Given the description of an element on the screen output the (x, y) to click on. 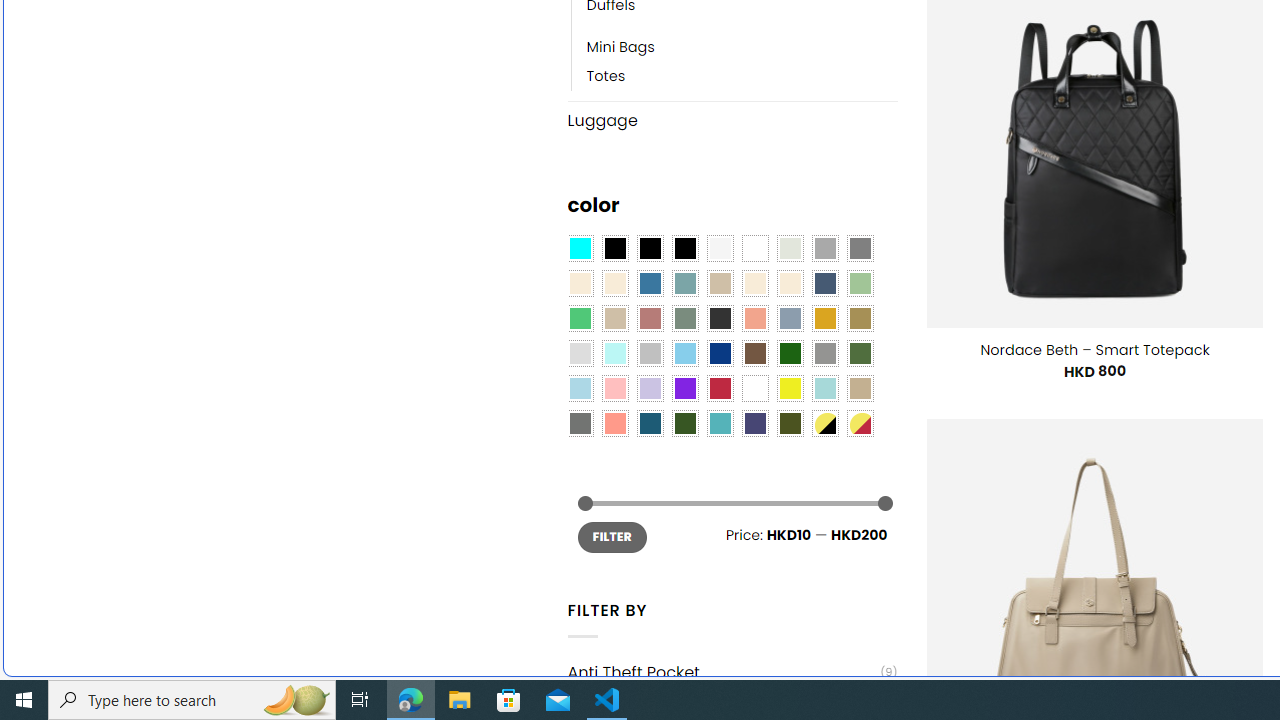
Dusty Blue (789, 318)
Anti Theft Pocket(9) (732, 672)
Emerald Green (579, 318)
Teal (719, 424)
White (755, 388)
Charcoal (719, 318)
Capri Blue (650, 424)
Light Green (859, 283)
Mini Bags (620, 48)
Anti Theft Pocket (723, 672)
Cream (789, 283)
Hale Navy (824, 283)
Brown (755, 354)
Yellow (789, 388)
Yellow-Black (824, 424)
